Given the description of an element on the screen output the (x, y) to click on. 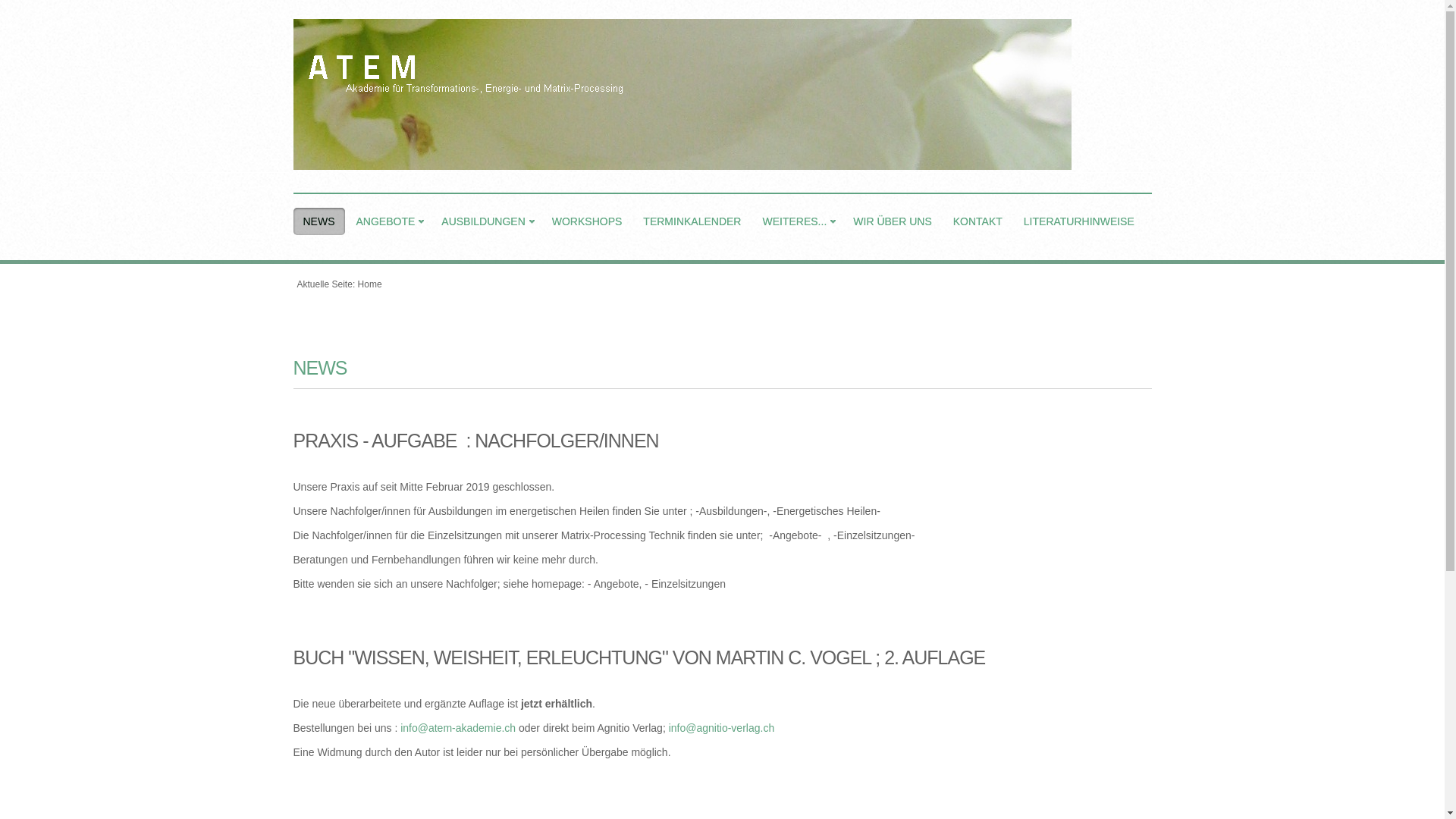
KONTAKT Element type: text (977, 221)
WORKSHOPS Element type: text (587, 221)
NEWS Element type: text (318, 221)
LITERATURHINWEISE Element type: text (1078, 221)
AUSBILDUNGEN Element type: text (485, 221)
NEWS Element type: text (319, 367)
ANGEBOTE Element type: text (387, 221)
WEITERES... Element type: text (796, 221)
info@agnitio-verlag.ch Element type: text (721, 727)
TERMINKALENDER Element type: text (691, 221)
info@atem-akademie.ch Element type: text (457, 727)
